Given the description of an element on the screen output the (x, y) to click on. 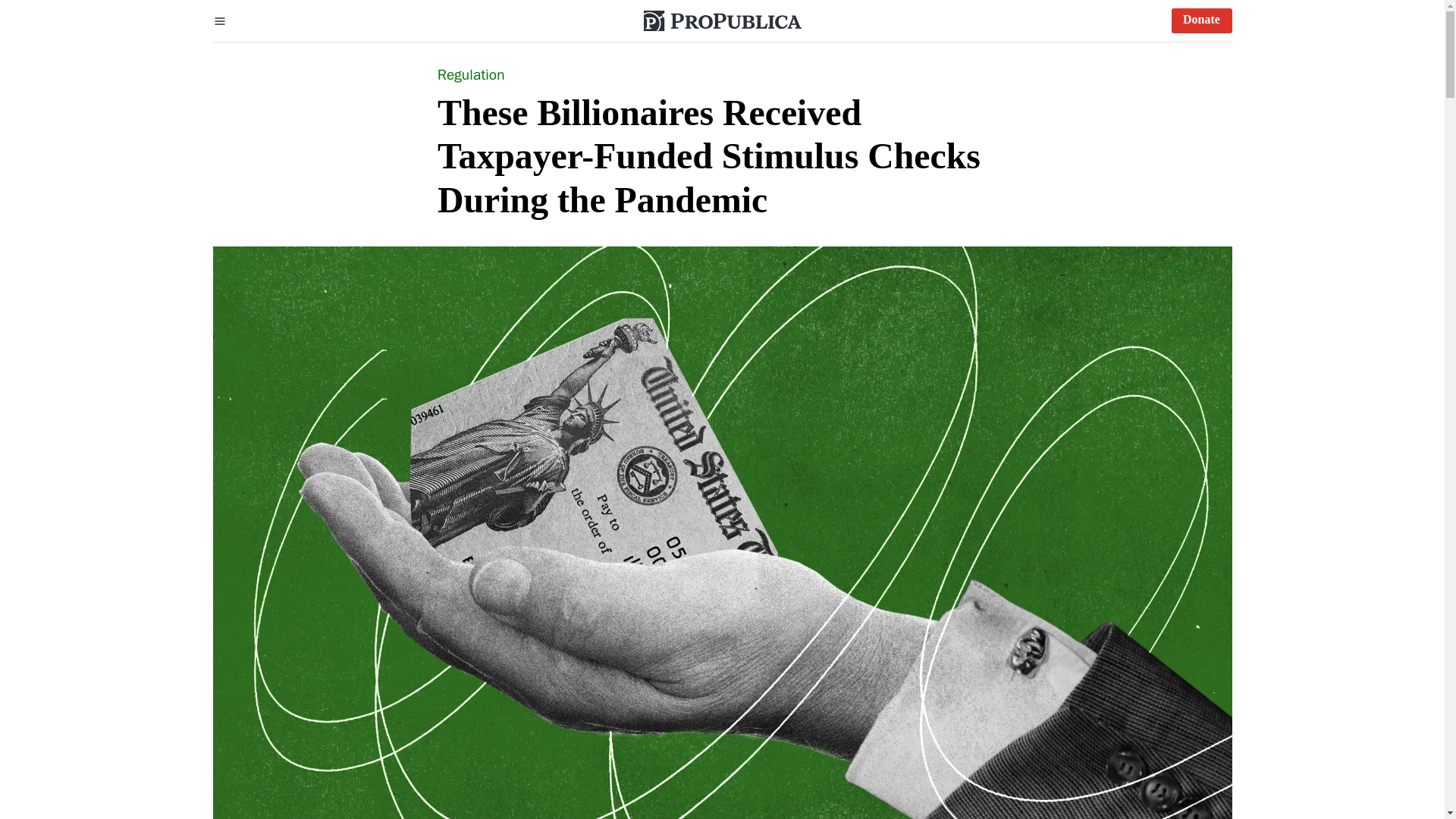
Menu (220, 20)
Skip to content (22, 22)
Regulation (471, 75)
Donate (1200, 20)
